Given the description of an element on the screen output the (x, y) to click on. 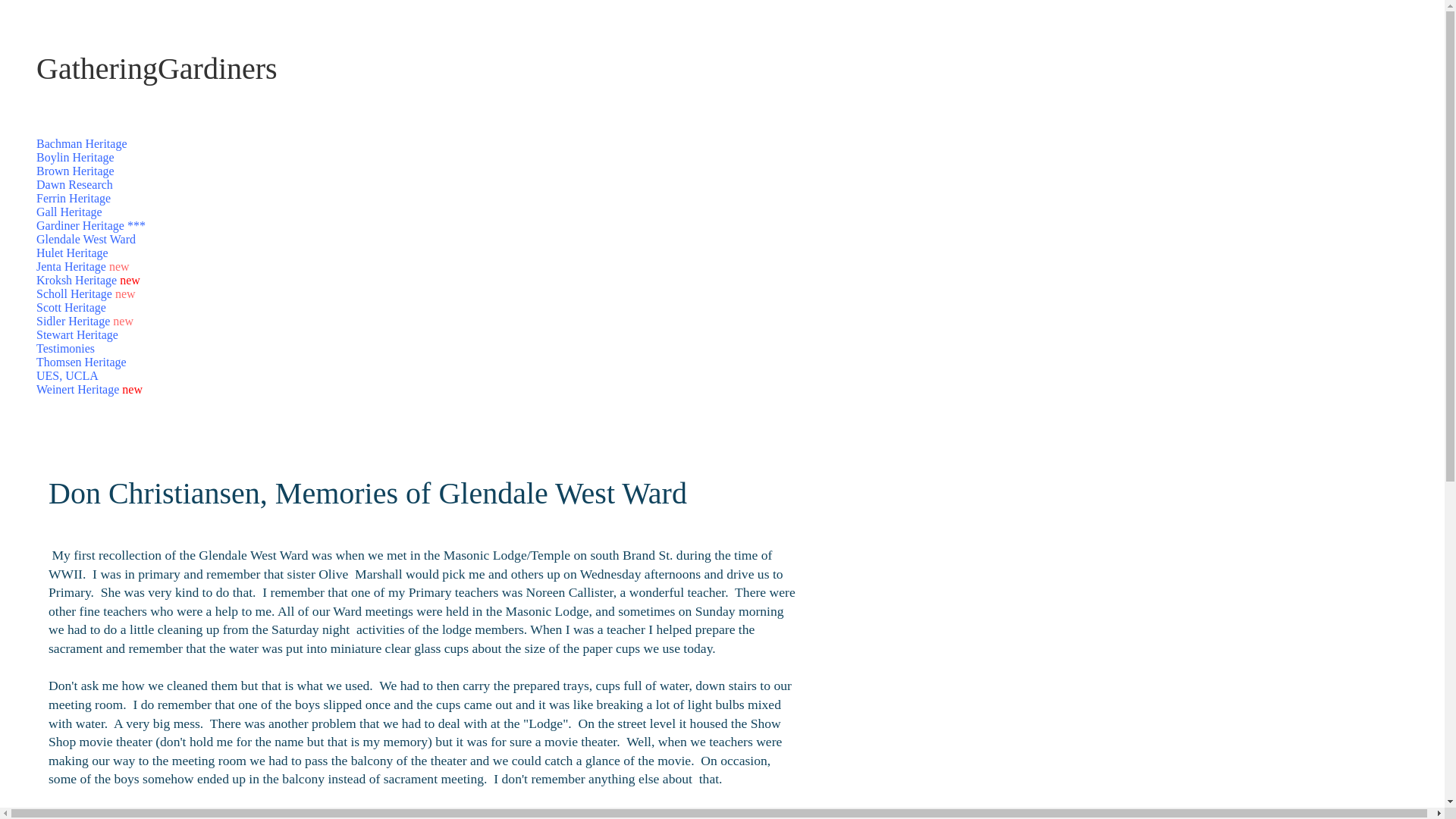
Glendale West Ward (85, 238)
UES, UCLA (67, 375)
Thomsen Heritage (81, 361)
Gardiner Heritage (79, 225)
Dawn Research (74, 184)
Hulet Heritage (71, 252)
Gall Heritage (68, 211)
Brown Heritage (75, 170)
Ferrin Heritage (73, 197)
Heritage (85, 266)
GatheringGardiners (157, 68)
Testimonies (65, 348)
Jenta (50, 266)
Weinert Heritage (77, 389)
Kroksh Heritage (76, 279)
